Given the description of an element on the screen output the (x, y) to click on. 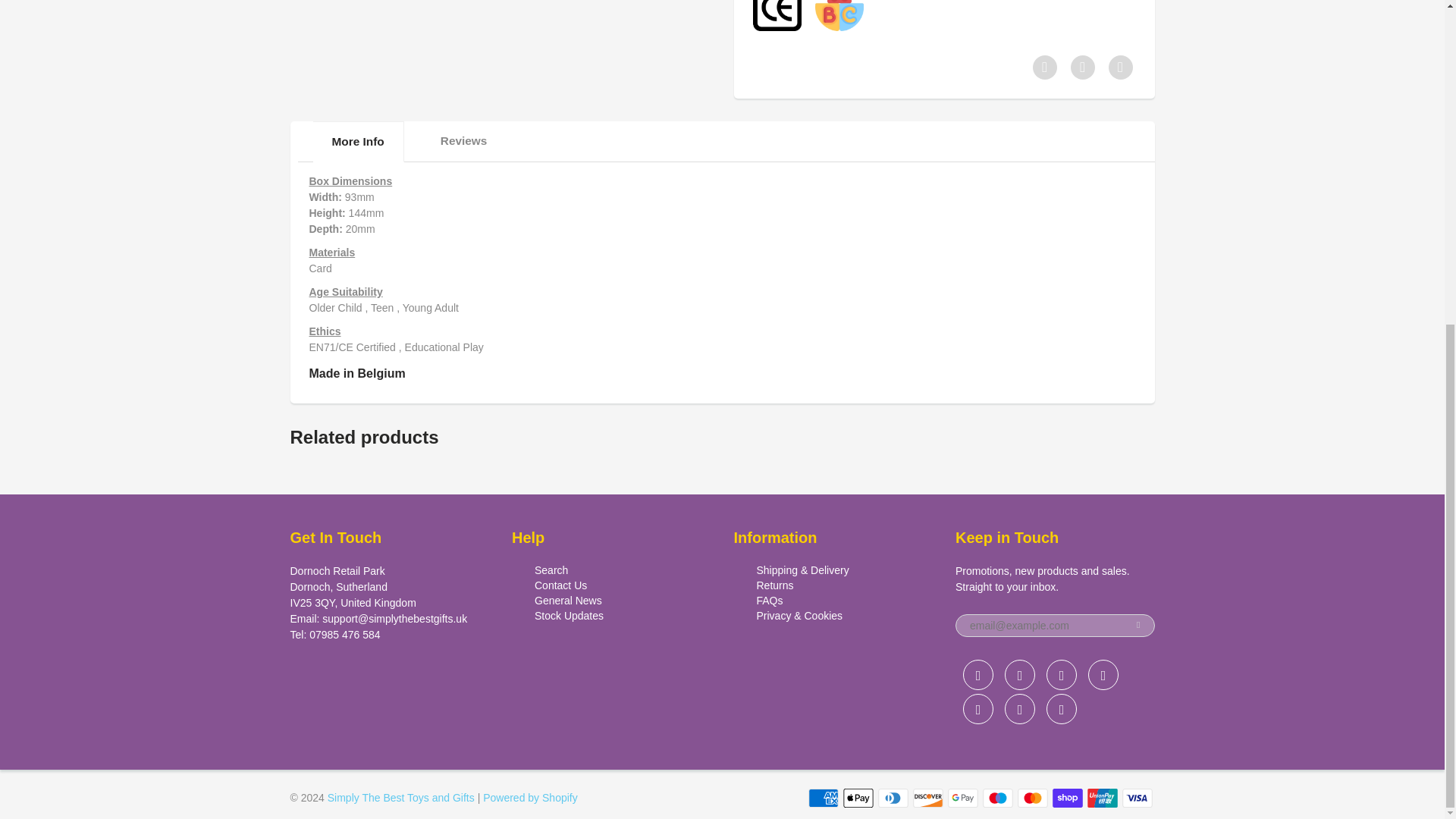
YouTube - Simply The Best Fair Trade Gifts (1061, 708)
Maestro (997, 797)
Twitter - Simply The Best Fair Trade Gifts (977, 675)
Google Pay (962, 797)
Instagram - Simply The Best Fair Trade Gifts (977, 708)
Diners Club (892, 797)
Facebook - Outside The Box Toys And Gifts (1061, 675)
Mastercard (1032, 797)
Union Pay (1102, 797)
American Express (823, 797)
Facebook - Simply The Best Fair Trade Gifts (1019, 675)
Discover (927, 797)
Educational Play (839, 15)
Apple Pay (858, 797)
Shop Pay (1067, 797)
